Given the description of an element on the screen output the (x, y) to click on. 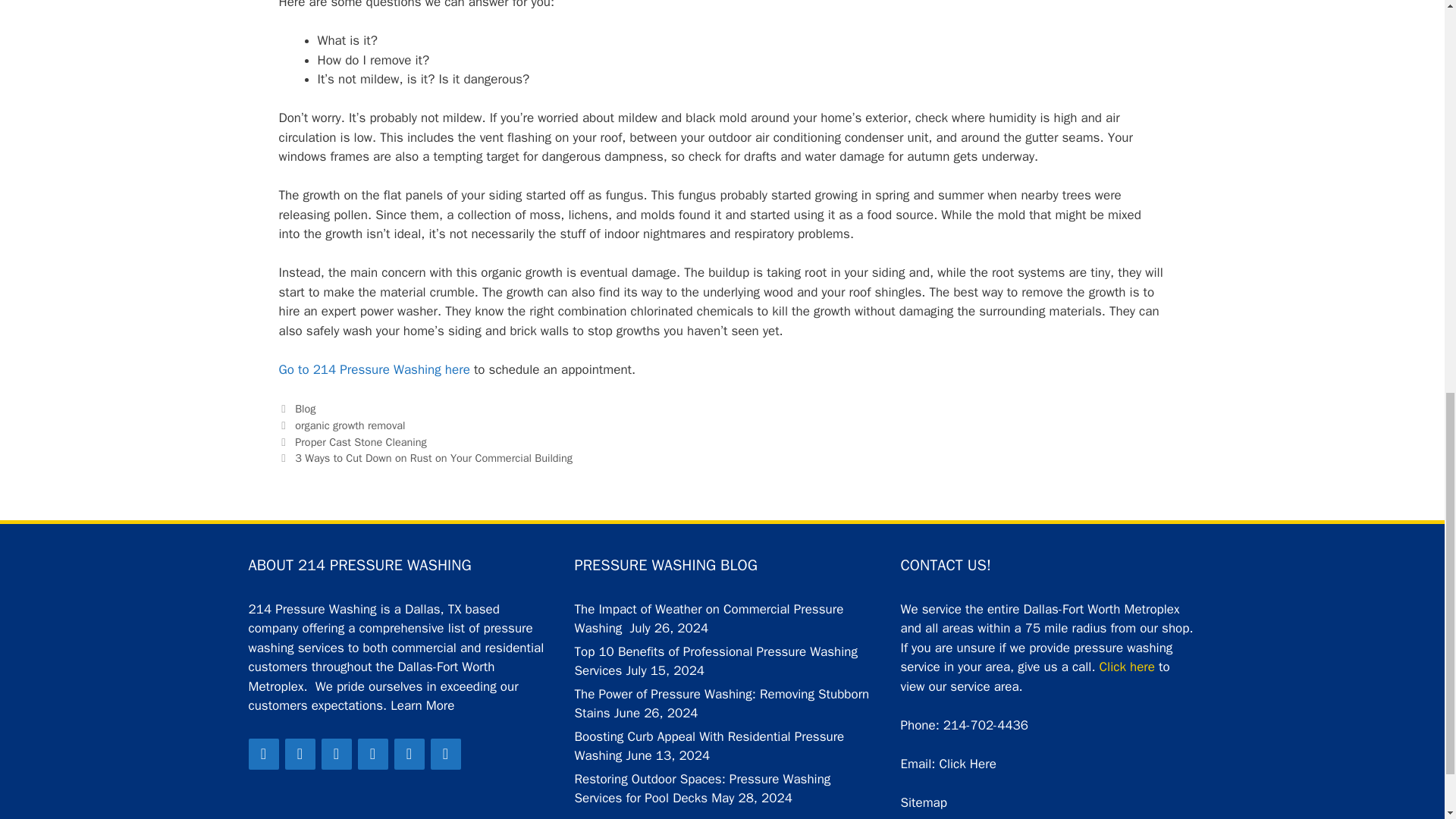
Previous (352, 441)
Twitter (300, 753)
Blog (305, 408)
3 Ways to Cut Down on Rust on Your Commercial Building (433, 458)
Learn More (422, 705)
Next (426, 458)
Proper Cast Stone Cleaning (360, 441)
Go to 214 Pressure Washing here (374, 369)
Facebook (263, 753)
organic growth removal (349, 425)
